Given the description of an element on the screen output the (x, y) to click on. 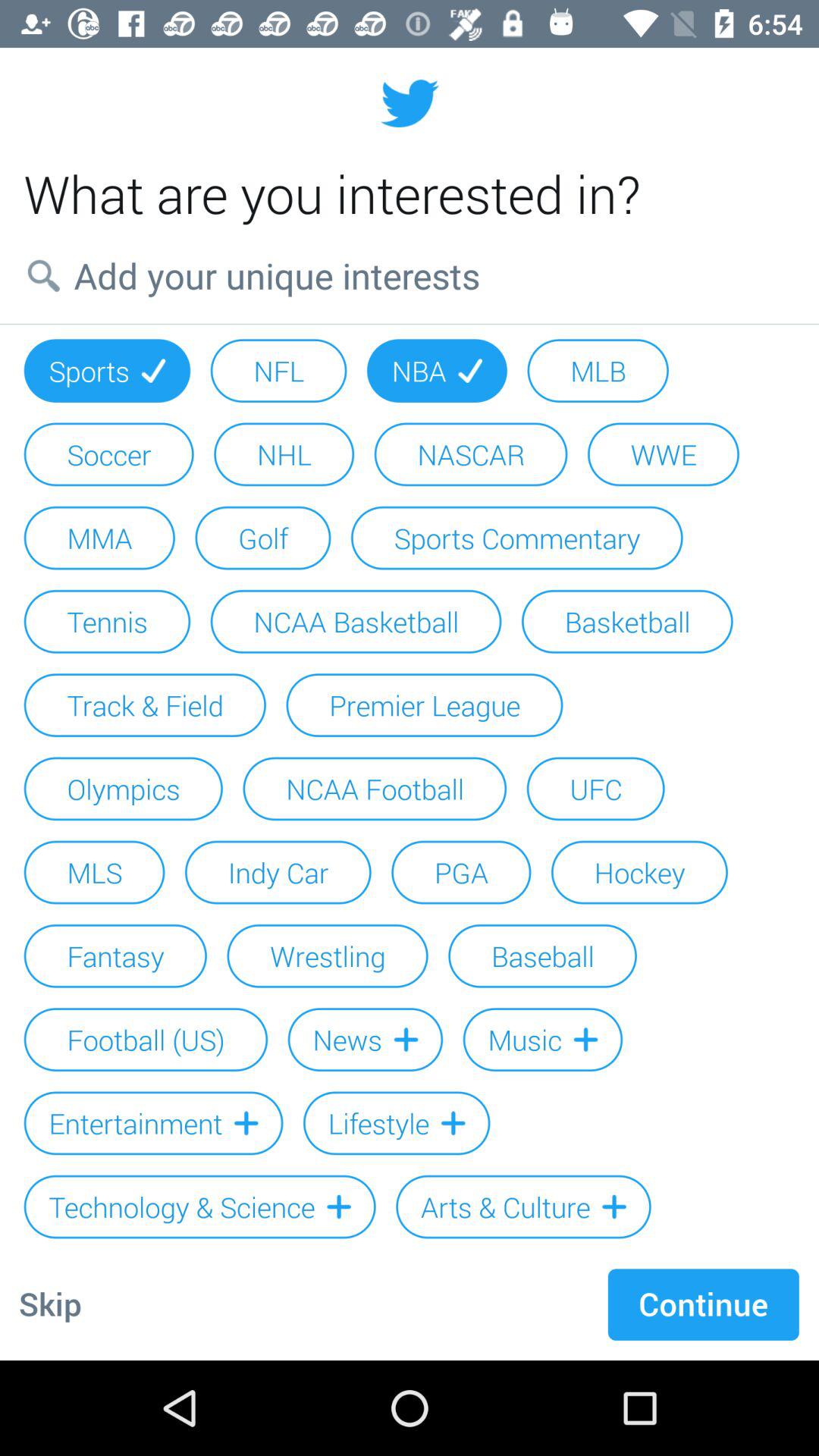
search for your interests (409, 275)
